Given the description of an element on the screen output the (x, y) to click on. 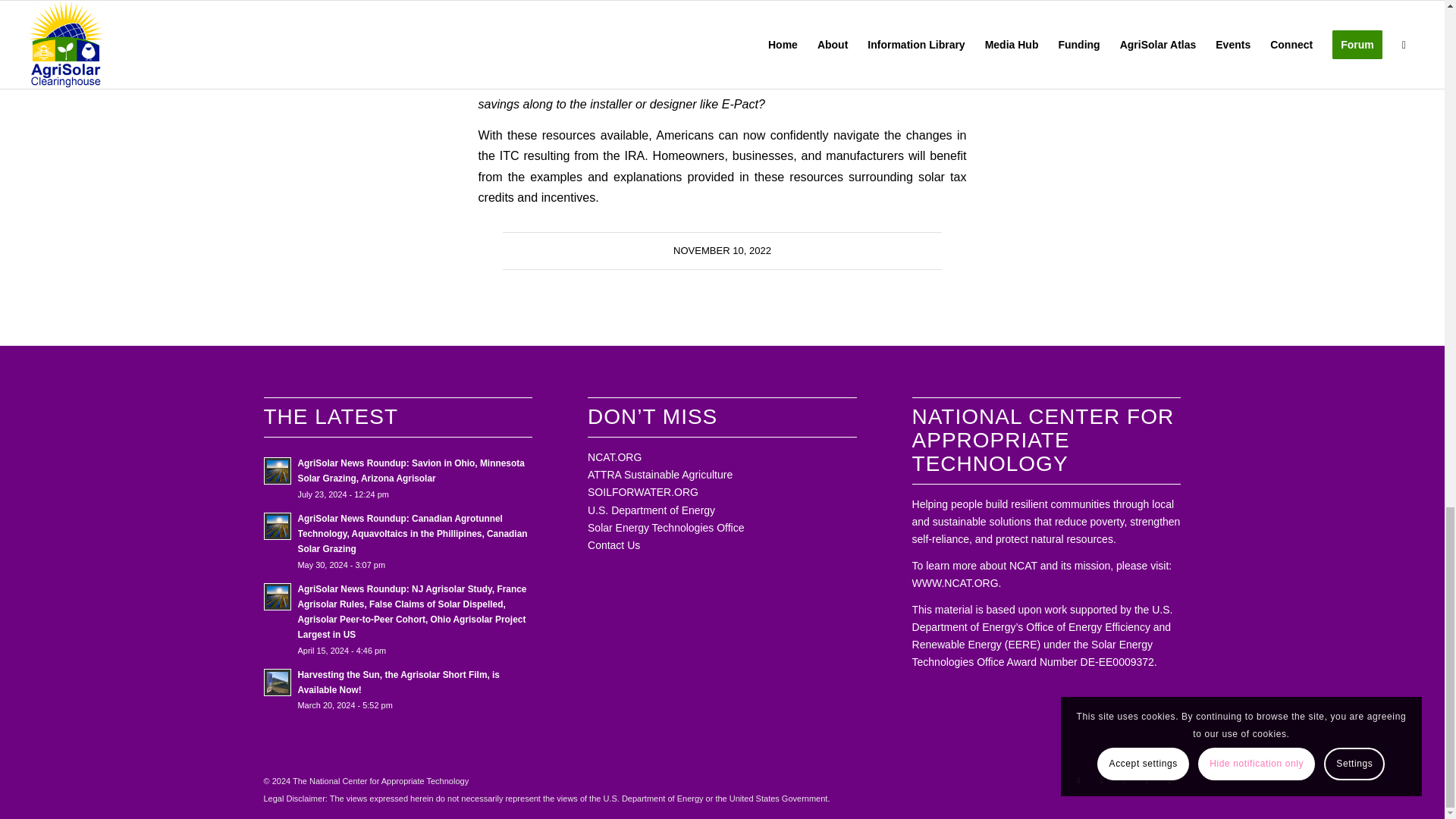
Facebook (1078, 780)
Youtube (1101, 780)
U.S. Department of Energy (651, 510)
Instagram (1124, 780)
NCAT.ORG (615, 457)
Flickr (1169, 780)
SOILFORWATER.ORG (643, 491)
LinkedIn (1146, 780)
